Given the description of an element on the screen output the (x, y) to click on. 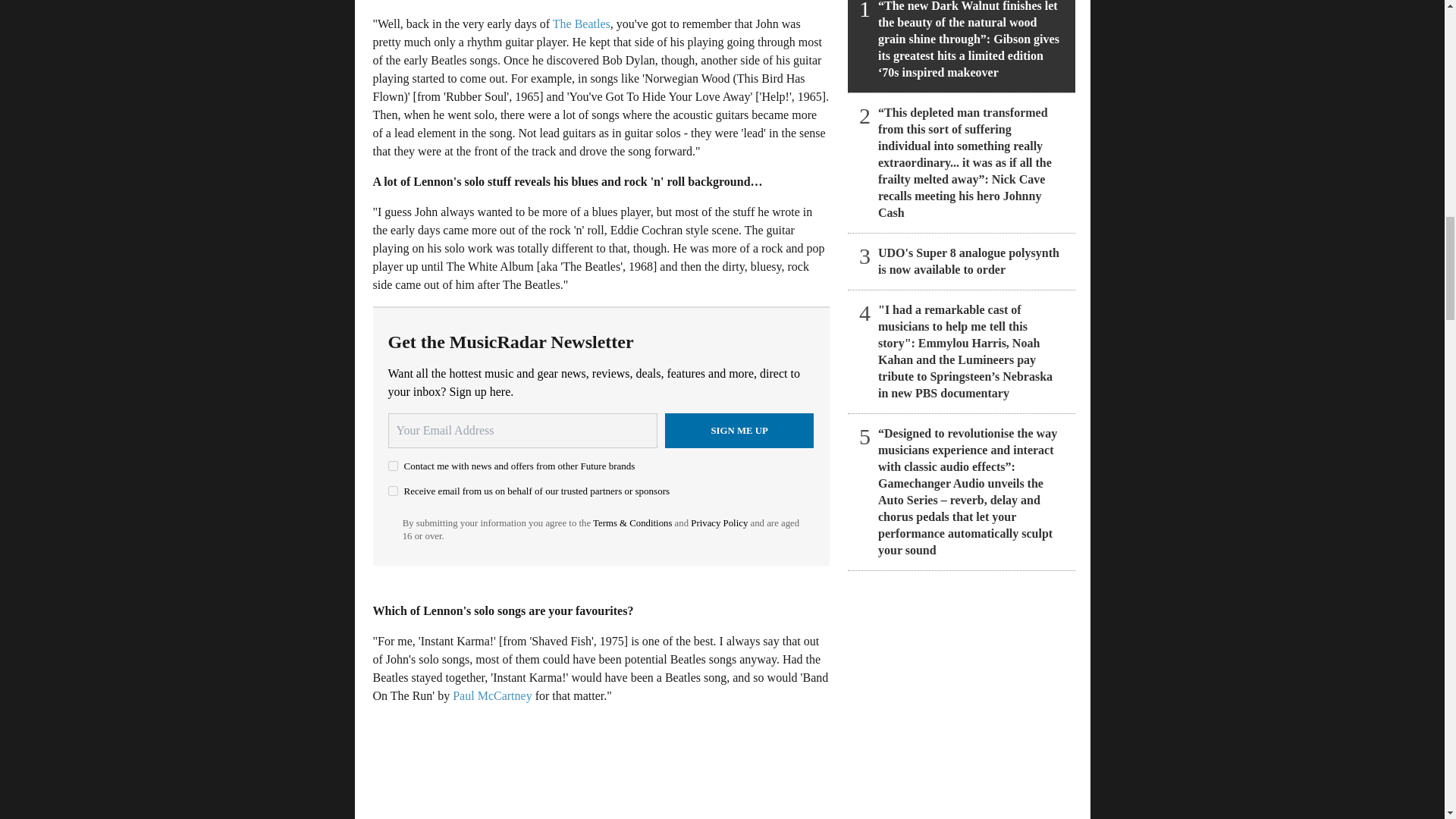
on (392, 465)
on (392, 491)
Sign me up (739, 430)
